Given the description of an element on the screen output the (x, y) to click on. 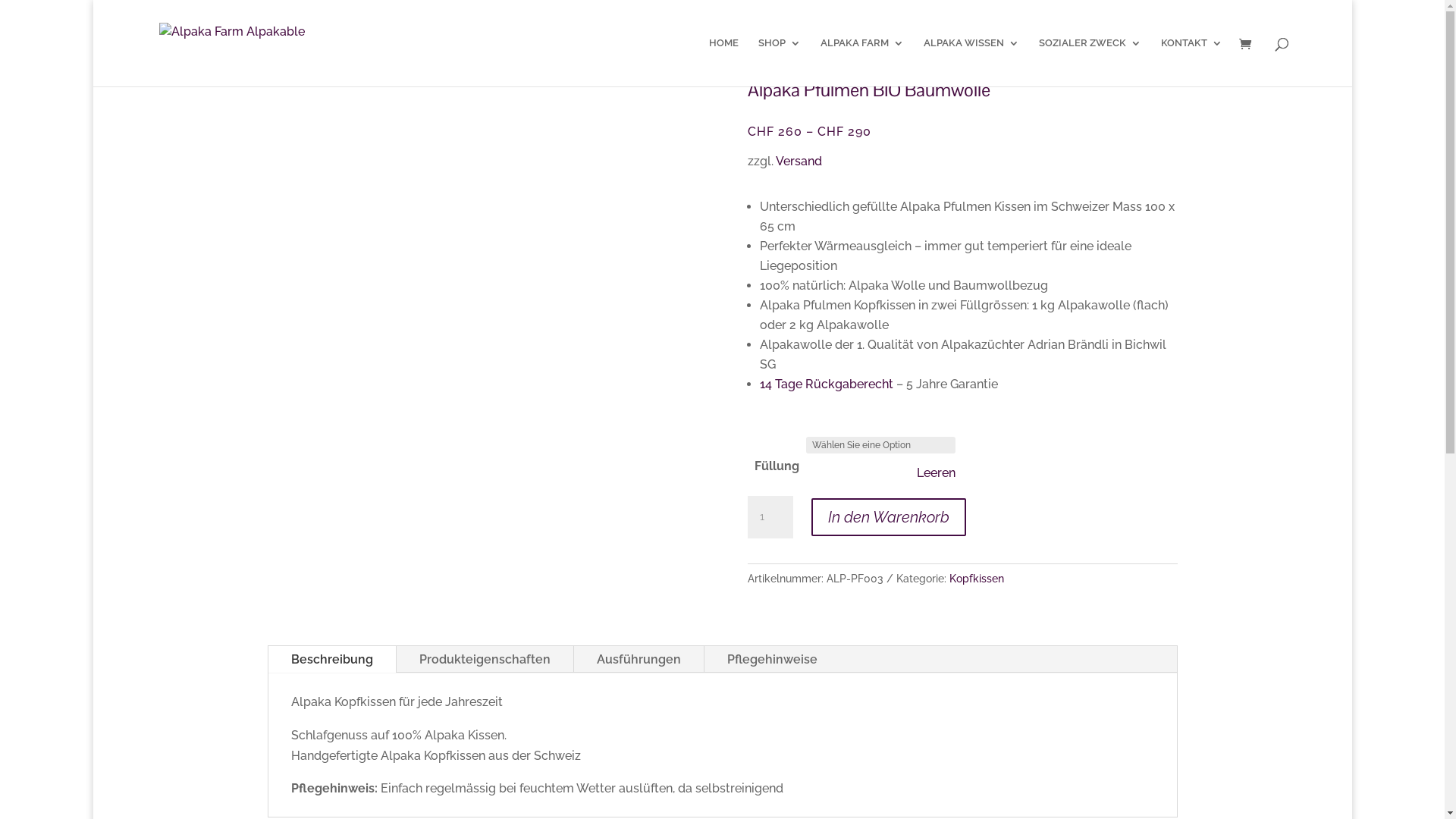
Produkteigenschaften Element type: text (483, 659)
ALPAKA WISSEN Element type: text (971, 61)
HOME Element type: text (722, 61)
Versand Element type: text (798, 160)
SHOP Element type: text (779, 61)
In den Warenkorb Element type: text (888, 517)
Leeren Element type: text (935, 473)
SOZIALER ZWECK Element type: text (1089, 61)
Kopfkissen Element type: text (976, 578)
Pflegehinweise Element type: text (771, 659)
KONTAKT Element type: text (1190, 61)
Beschreibung Element type: text (331, 659)
Kopfkissen Element type: text (341, 70)
Shop Element type: text (281, 70)
ALPAKA FARM Element type: text (861, 61)
